Given the description of an element on the screen output the (x, y) to click on. 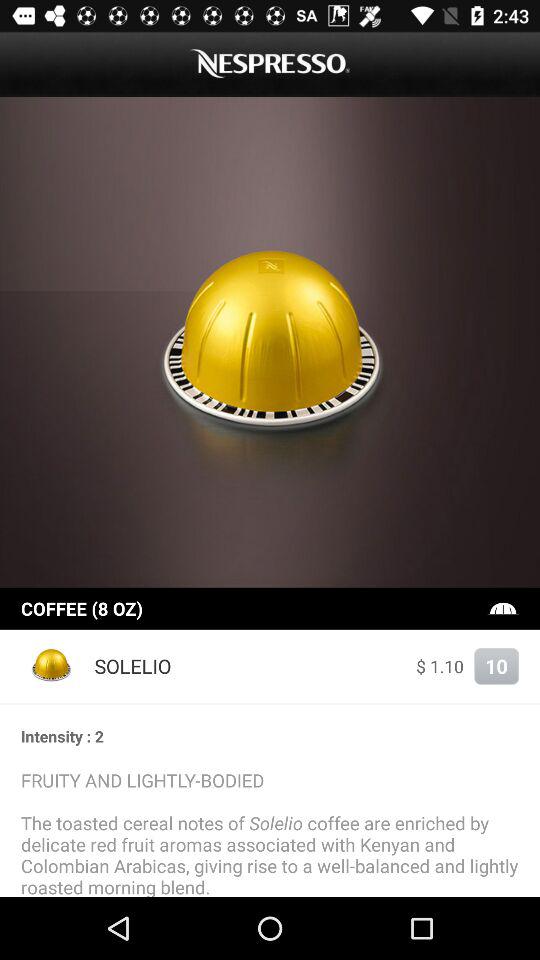
choose the icon on the right (503, 608)
